Given the description of an element on the screen output the (x, y) to click on. 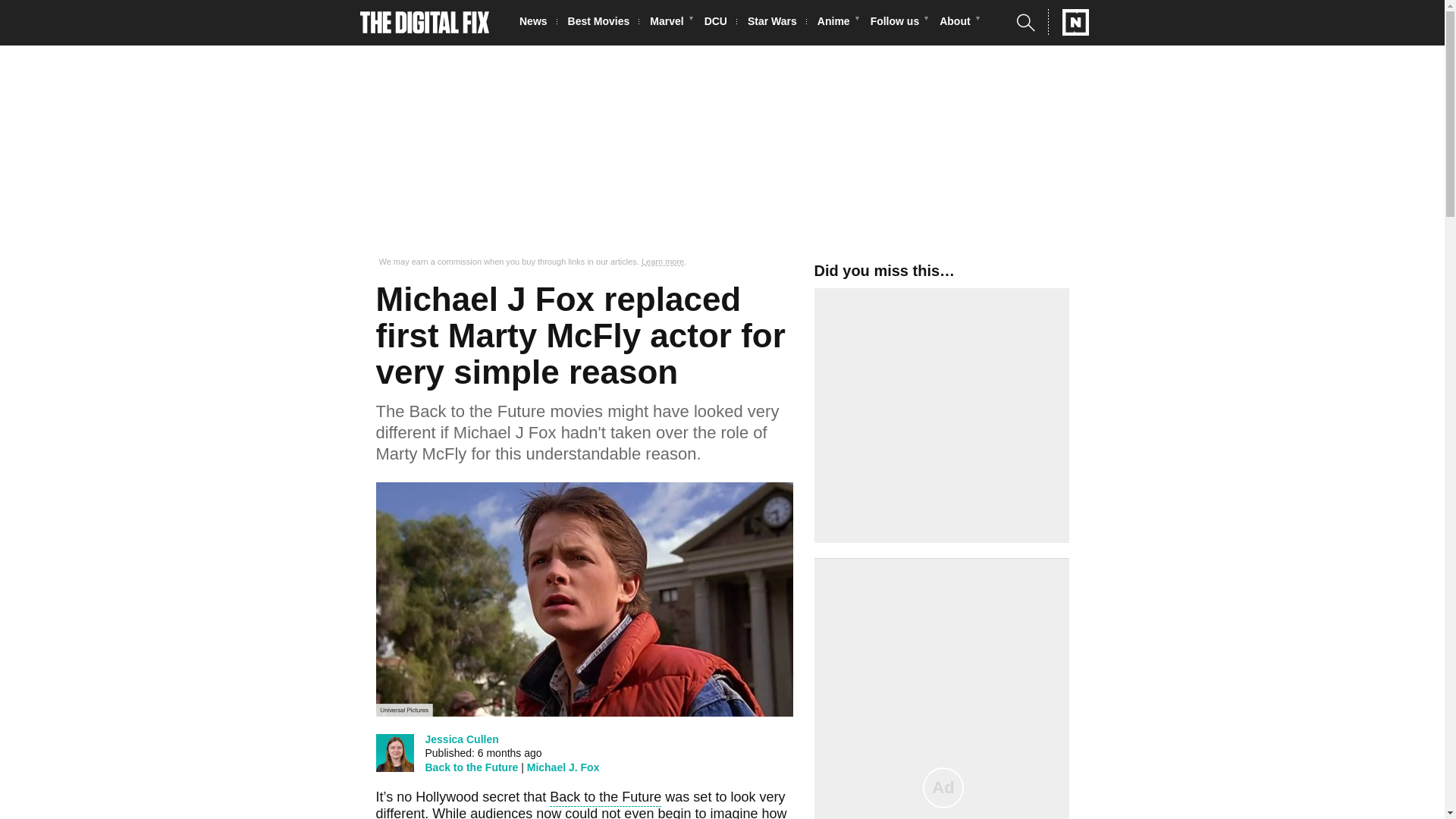
Marvel Cinematic Universe News (671, 22)
Anime (837, 22)
Learn more (663, 261)
Back to the Future (471, 767)
The Digital Fix (424, 22)
Network N Media (1068, 22)
Follow us (899, 22)
Back to the Future (605, 798)
Jessica Cullen (461, 739)
Michael J. Fox (563, 767)
